Given the description of an element on the screen output the (x, y) to click on. 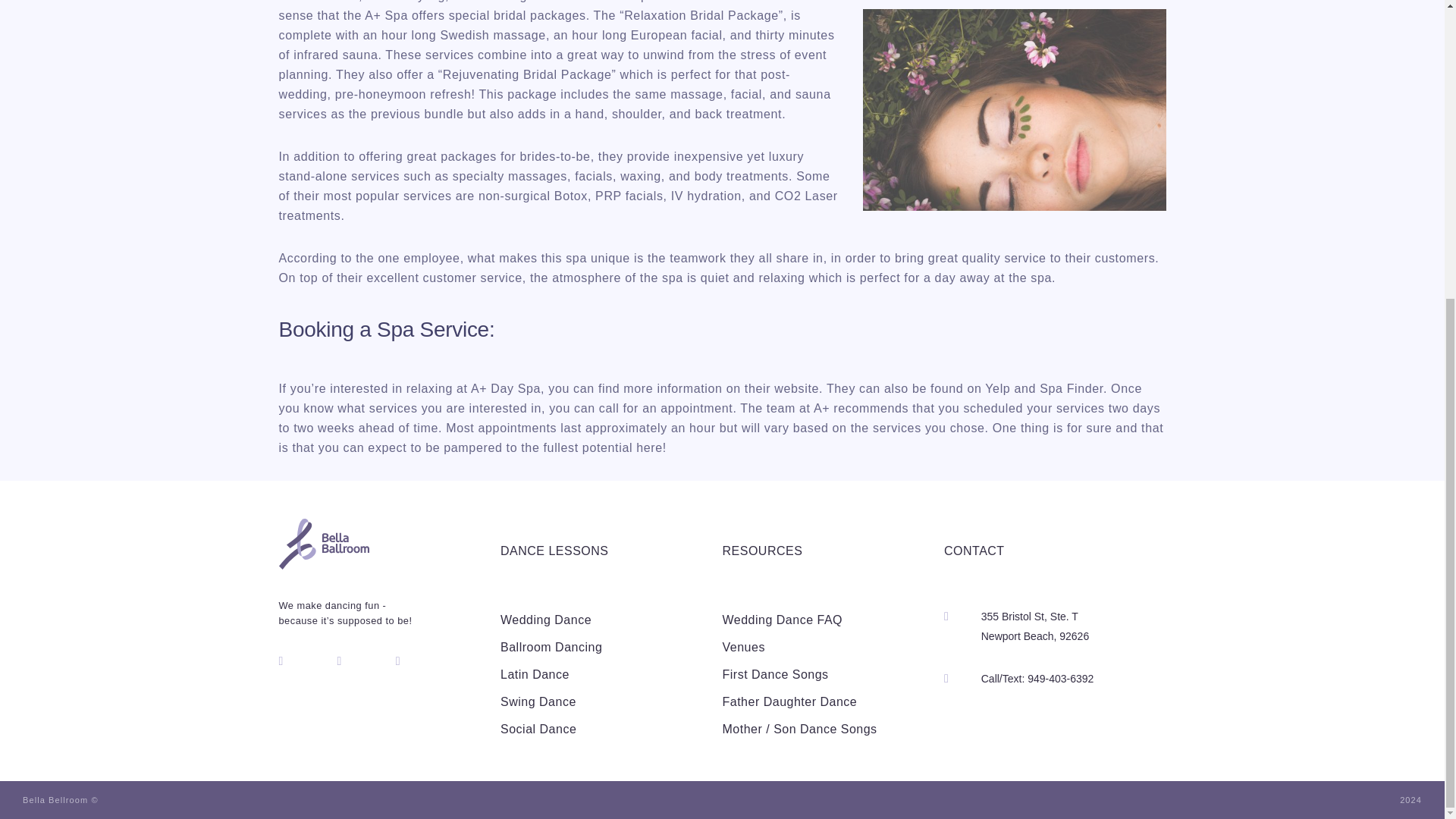
Father Daughter Dance (789, 701)
Bella Home (324, 564)
Social Dance (538, 728)
Ballroom Dancing (551, 646)
Swing Dance (538, 701)
Dance Lessons (1035, 626)
Venues (554, 550)
RESOURCES (743, 646)
Wedding Dance (762, 550)
First Dance Songs (545, 619)
Venues (775, 674)
Father Daughter Dance (743, 646)
First Dance Songs (789, 701)
DANCE LESSONS (775, 674)
